Given the description of an element on the screen output the (x, y) to click on. 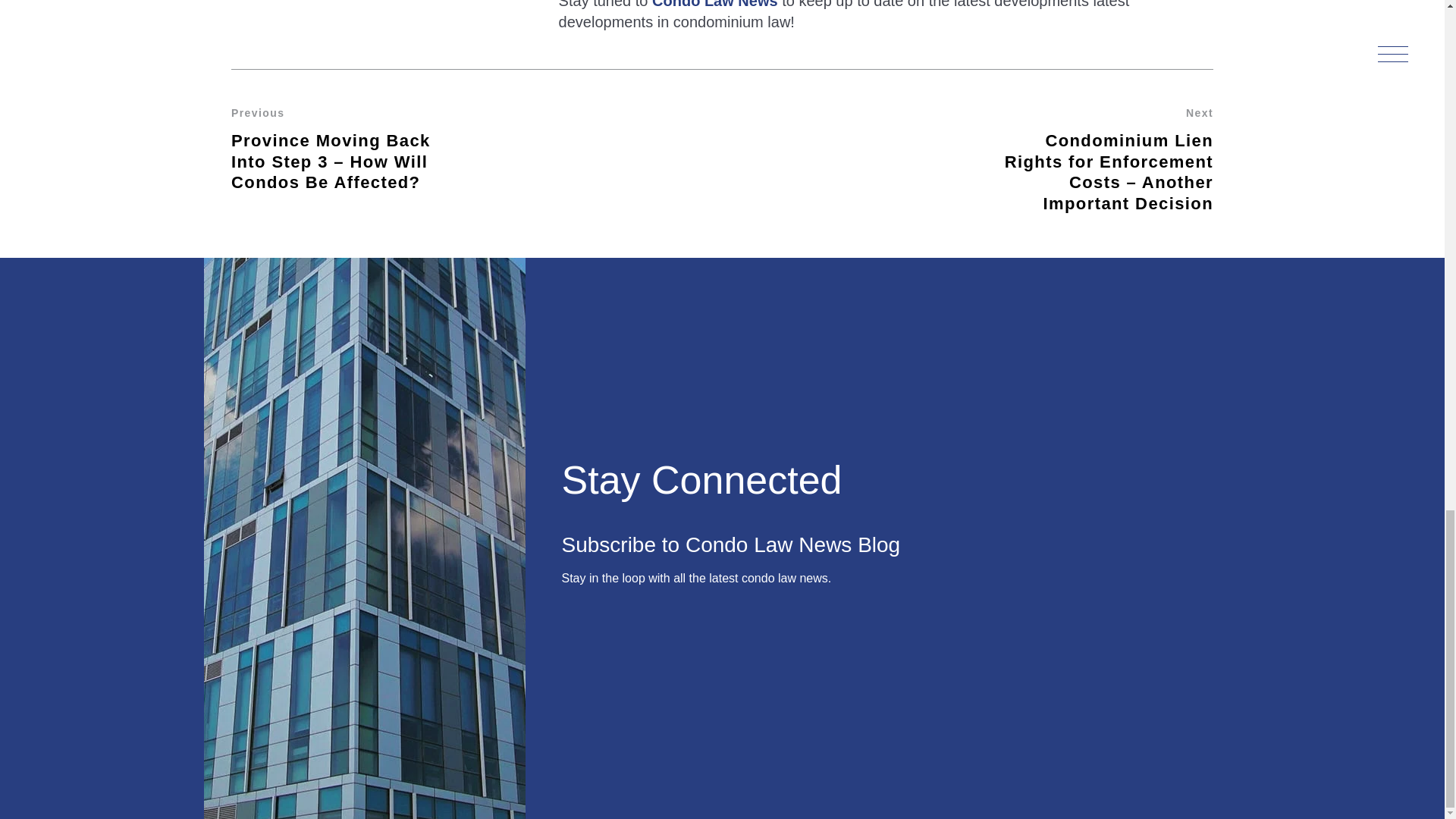
Condo Law News (714, 4)
